Given the description of an element on the screen output the (x, y) to click on. 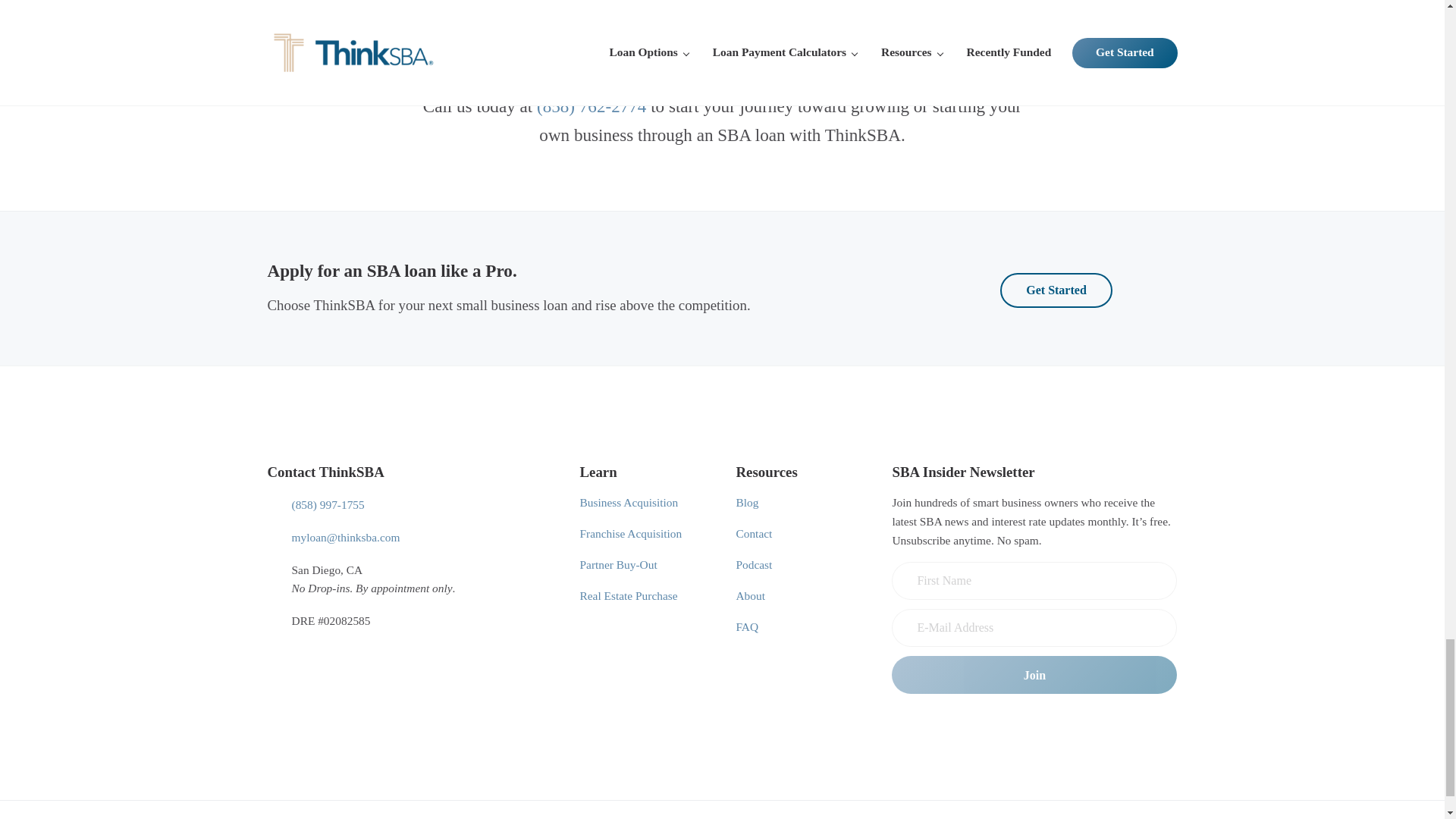
Join (1033, 674)
Get Started (1056, 289)
Start Your SBA Journey Today! (721, 33)
